Given the description of an element on the screen output the (x, y) to click on. 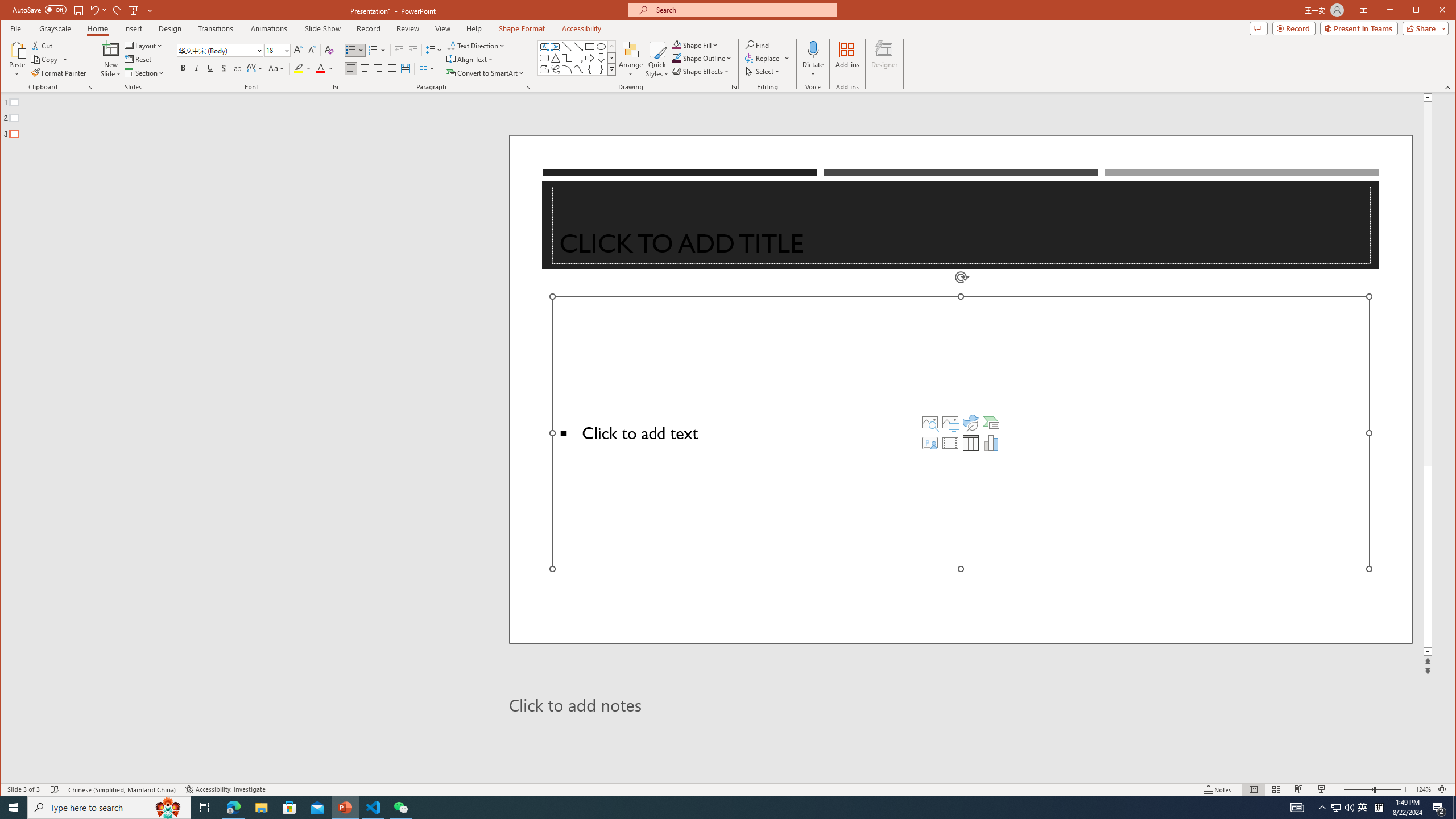
Insert Table (970, 443)
Zoom 124% (1422, 789)
Insert Video (949, 443)
Insert a SmartArt Graphic (991, 422)
